Given the description of an element on the screen output the (x, y) to click on. 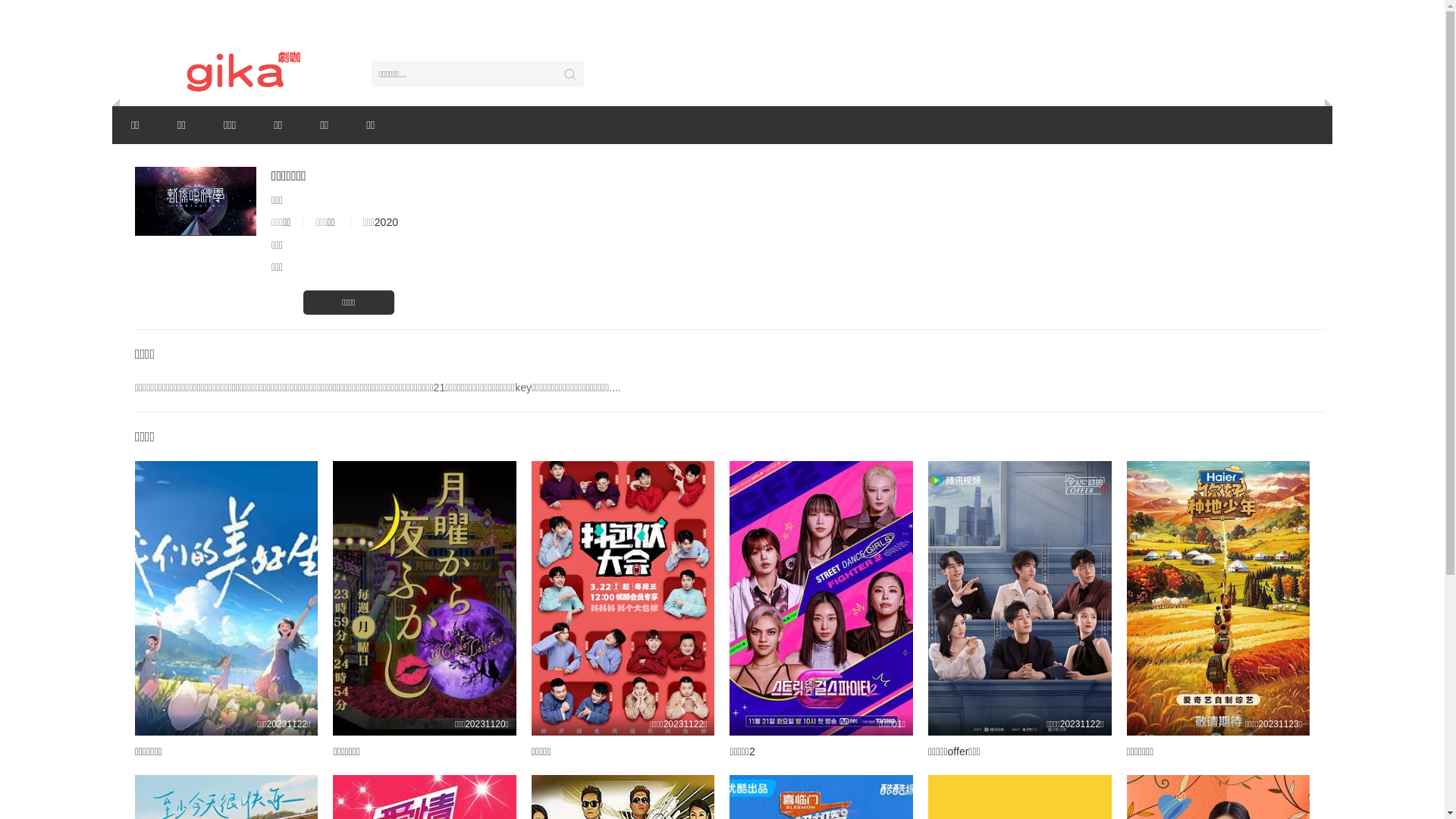
2020 Element type: text (386, 222)
